Given the description of an element on the screen output the (x, y) to click on. 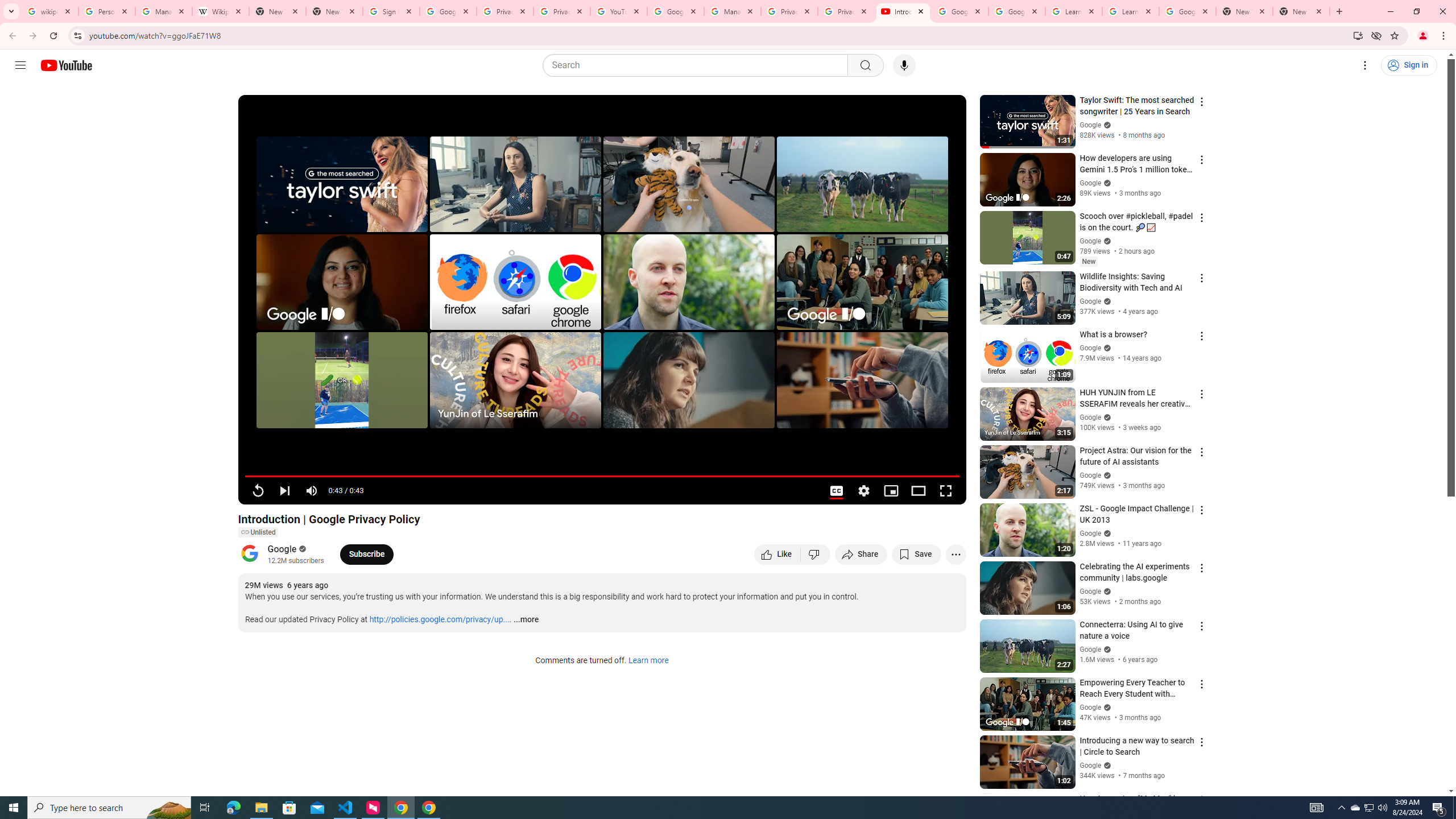
YouTube (618, 11)
Search (865, 65)
Unlisted (257, 532)
Search with your voice (903, 65)
New Tab (334, 11)
Dislike this video (815, 554)
Action menu (1200, 799)
New Tab (1301, 11)
